Given the description of an element on the screen output the (x, y) to click on. 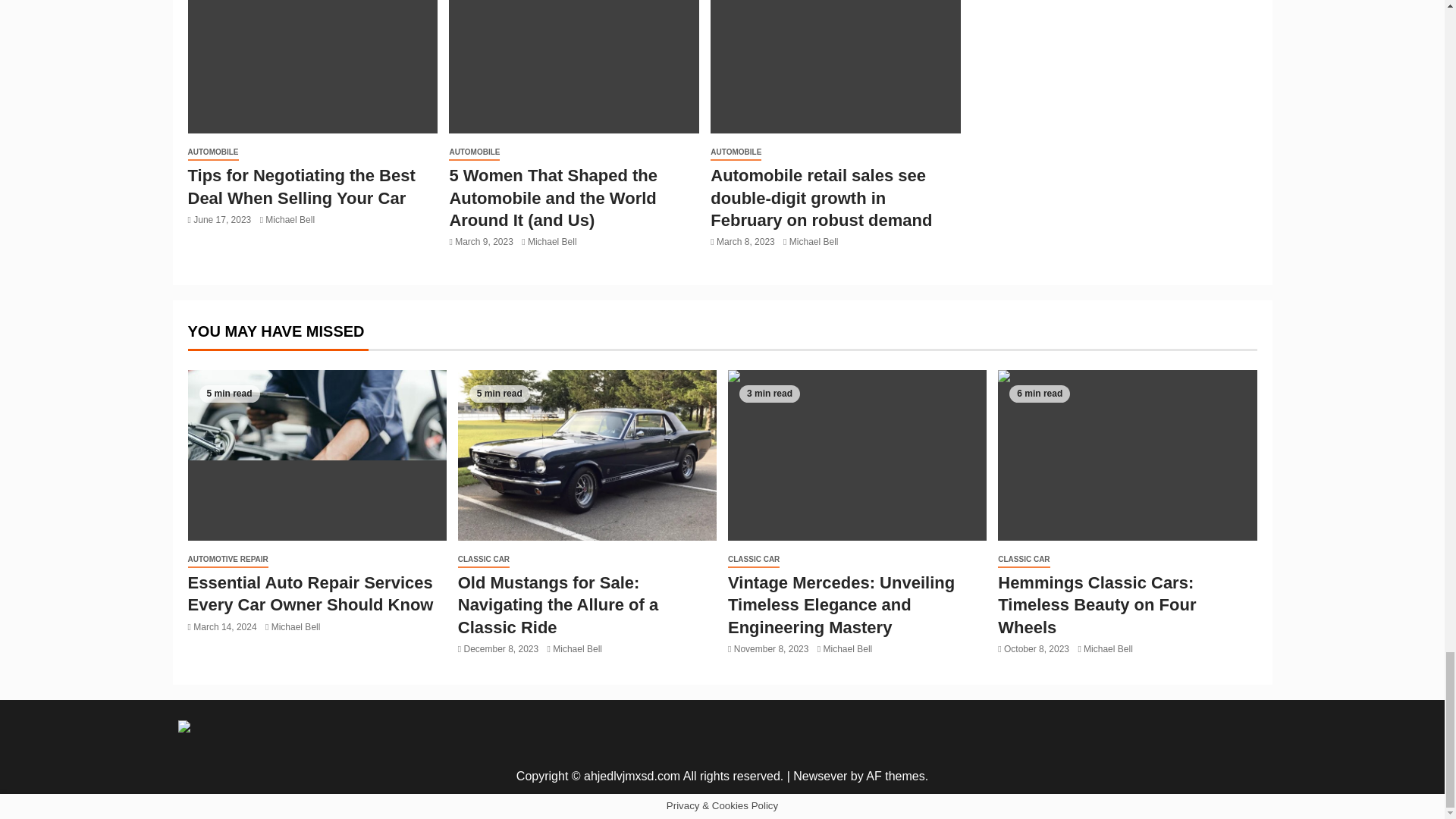
Hemmings Classic Cars: Timeless Beauty on Four Wheels (1126, 455)
Tips for Negotiating the Best Deal When Selling Your Car (312, 66)
Essential Auto Repair Services Every Car Owner Should Know (316, 455)
